Given the description of an element on the screen output the (x, y) to click on. 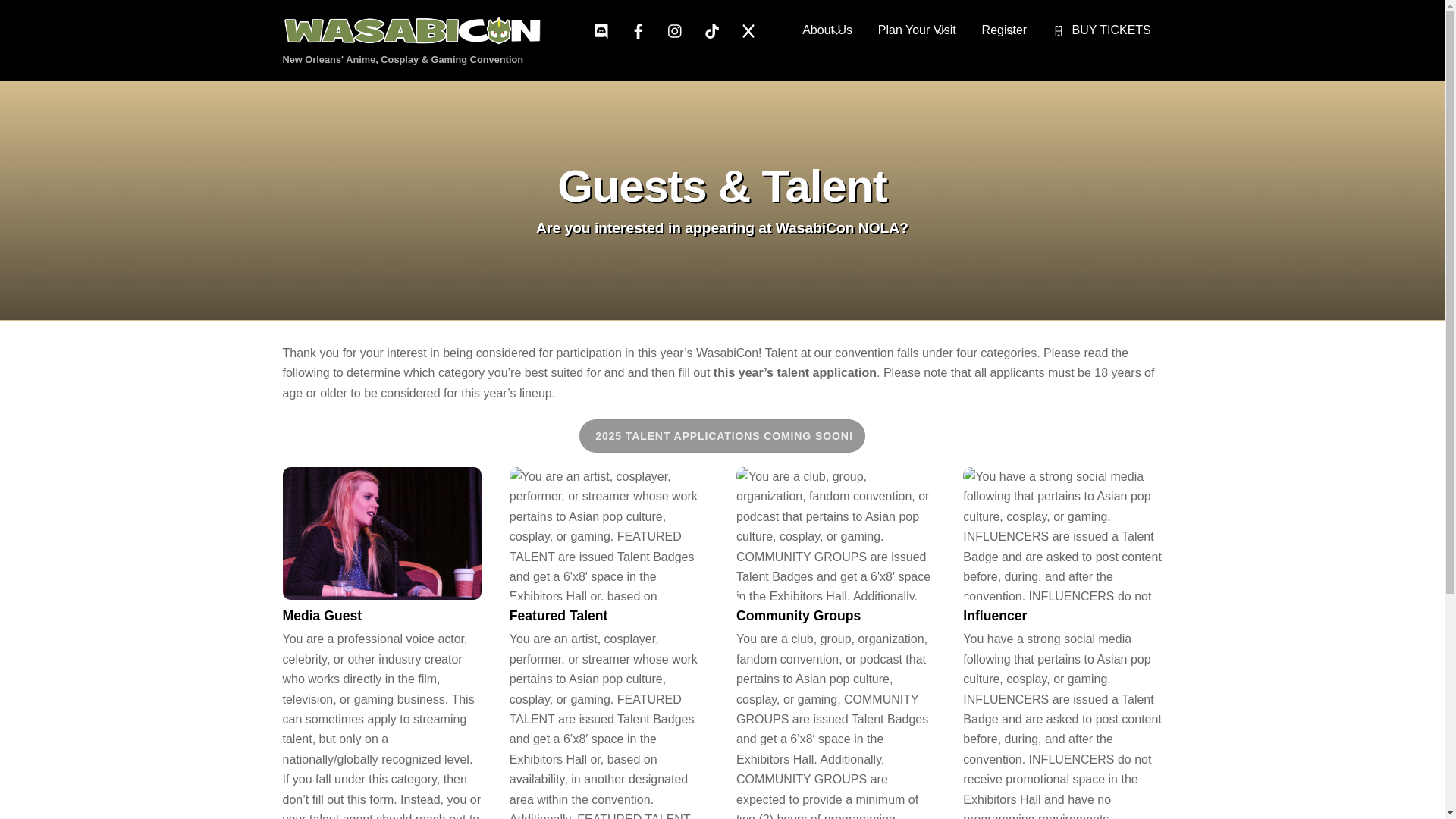
BUY TICKETS (1102, 30)
Community Groups (835, 532)
Featured Talent (721, 30)
WasabiCon NOLA (608, 532)
Influencer (422, 37)
Register (1061, 532)
Plan Your Visit (1003, 30)
About Us (917, 30)
Media Guest (826, 30)
2025 TALENT APPLICATIONS COMING SOON! (321, 615)
Media Guest (721, 435)
